Given the description of an element on the screen output the (x, y) to click on. 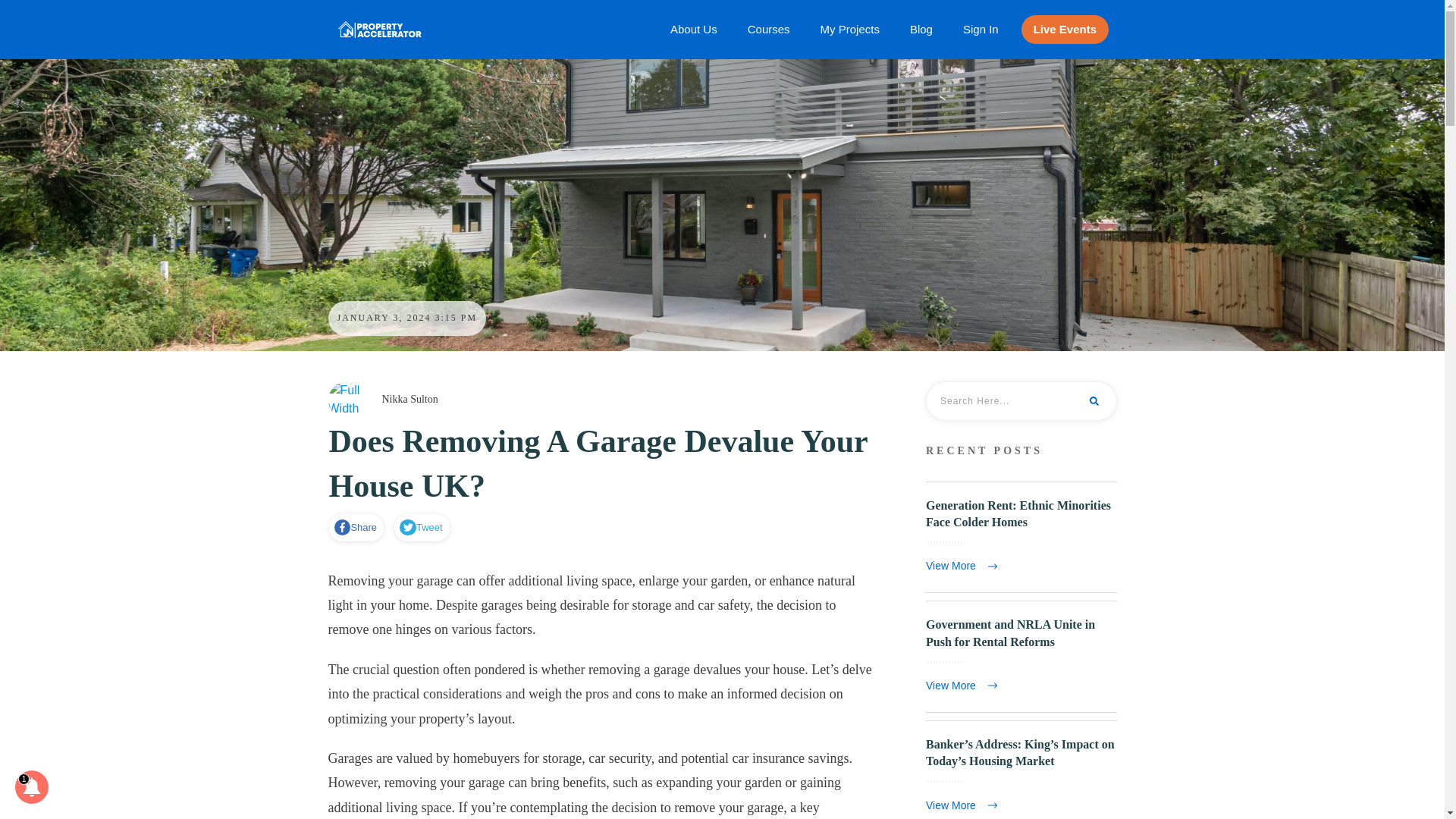
Blog (921, 29)
Live Events (1064, 29)
Share (355, 527)
Government and NRLA Unite in Push for Rental Reforms (1010, 632)
Does Removing A Garage Devalue Your House UK? (598, 463)
About Us (693, 29)
Generation Rent: Ethnic Minorities Face Colder Homes (1018, 513)
Full Width Featured Image With Sidebar (346, 399)
Generation Rent: Ethnic Minorities Face Colder Homes (1018, 513)
Does Removing A Garage Devalue Your House UK? (598, 463)
Sign In (980, 29)
Courses (769, 29)
View More (964, 566)
My Projects (850, 29)
Tweet (420, 527)
